Given the description of an element on the screen output the (x, y) to click on. 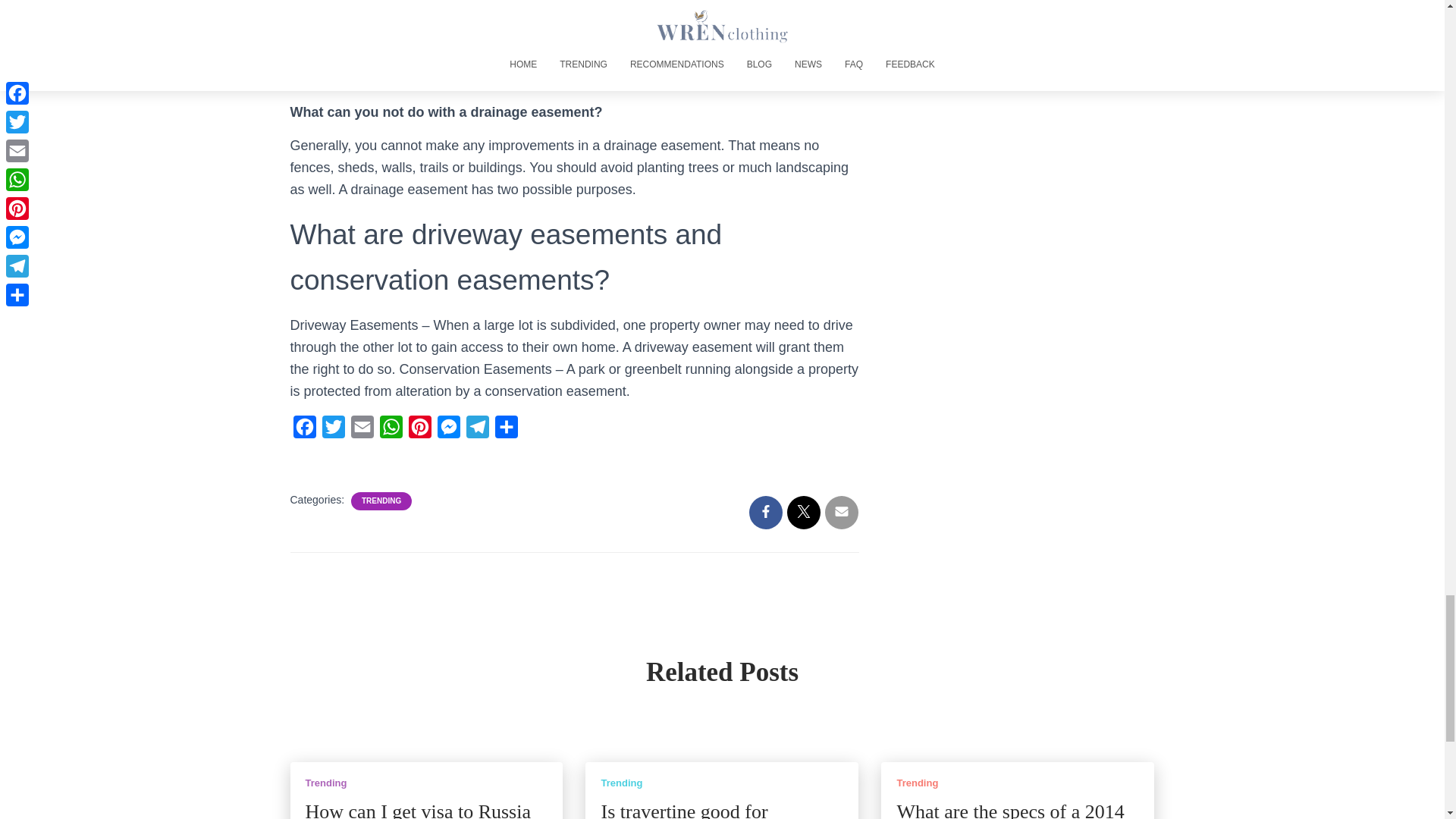
TRENDING (381, 501)
Telegram (477, 430)
Facebook (303, 430)
Email (361, 430)
WhatsApp (389, 430)
Facebook (303, 430)
Messenger (448, 430)
Twitter (332, 430)
Pinterest (418, 430)
